Given the description of an element on the screen output the (x, y) to click on. 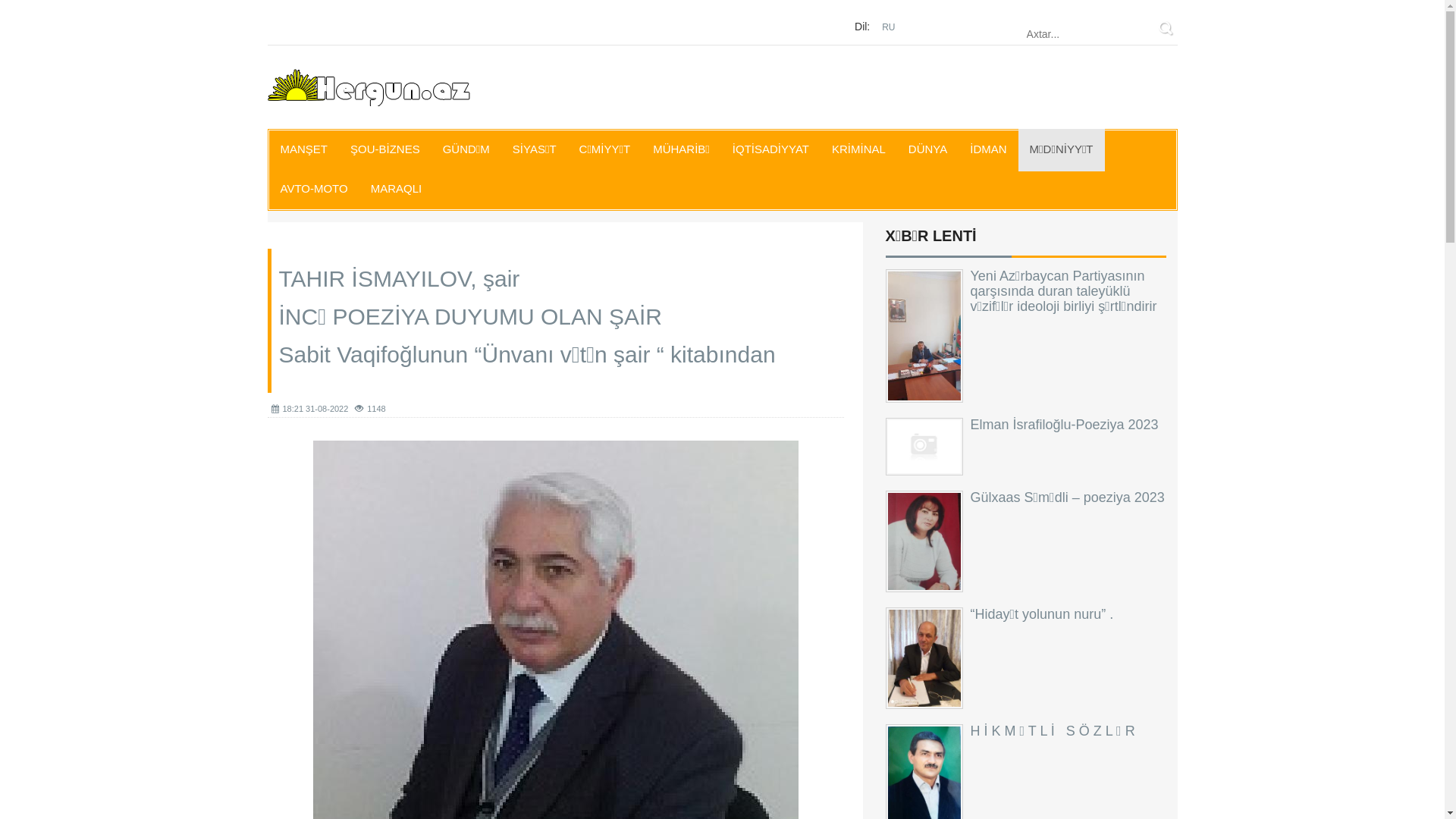
KRIMINAL Element type: text (858, 149)
RU Element type: text (887, 27)
MARAQLI Element type: text (396, 189)
AVTO-MOTO Element type: text (313, 189)
